Given the description of an element on the screen output the (x, y) to click on. 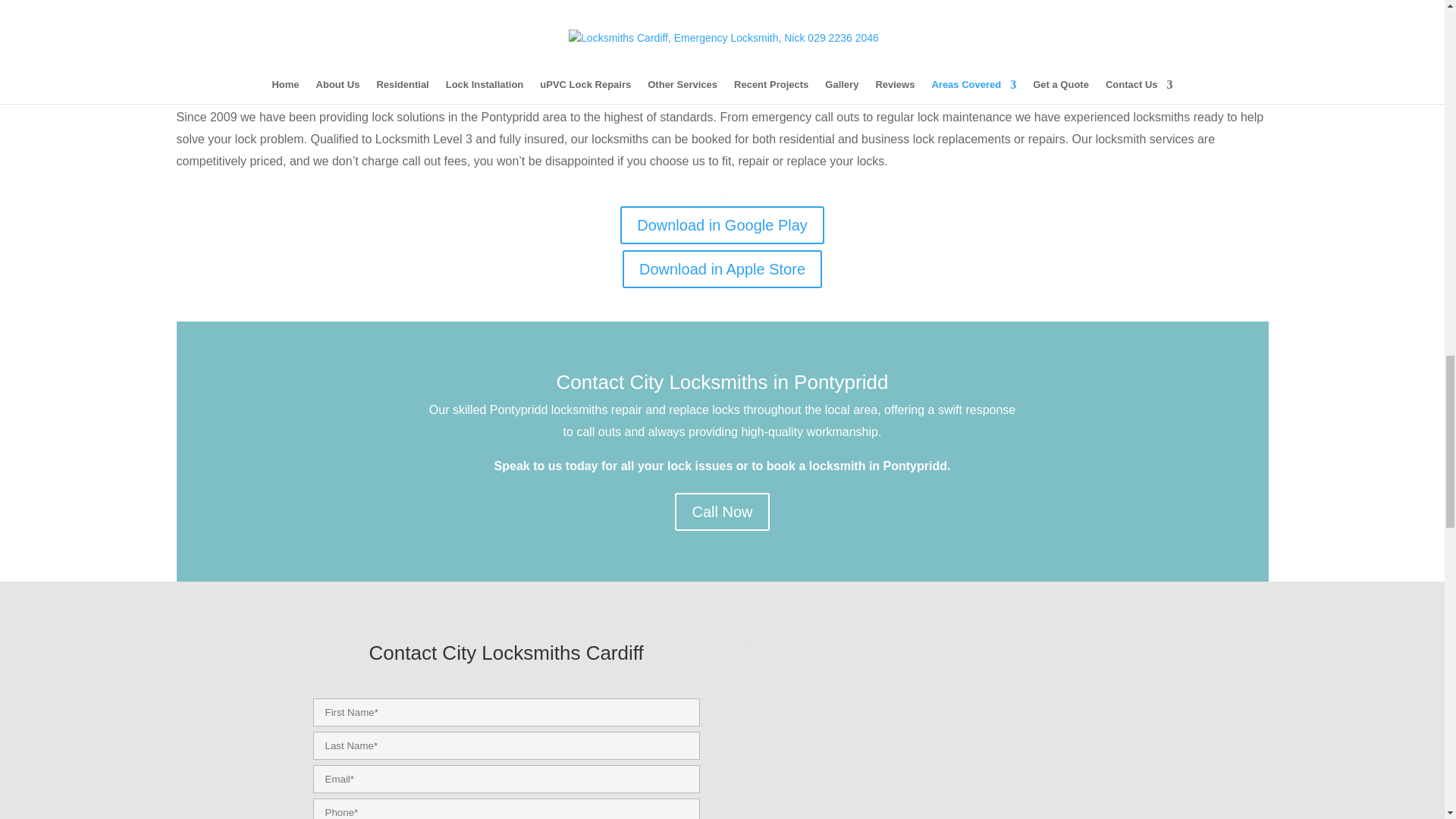
Download in Google Play (722, 225)
Contact your local locksmith in Newport (505, 656)
Download in Apple Store (722, 269)
